Given the description of an element on the screen output the (x, y) to click on. 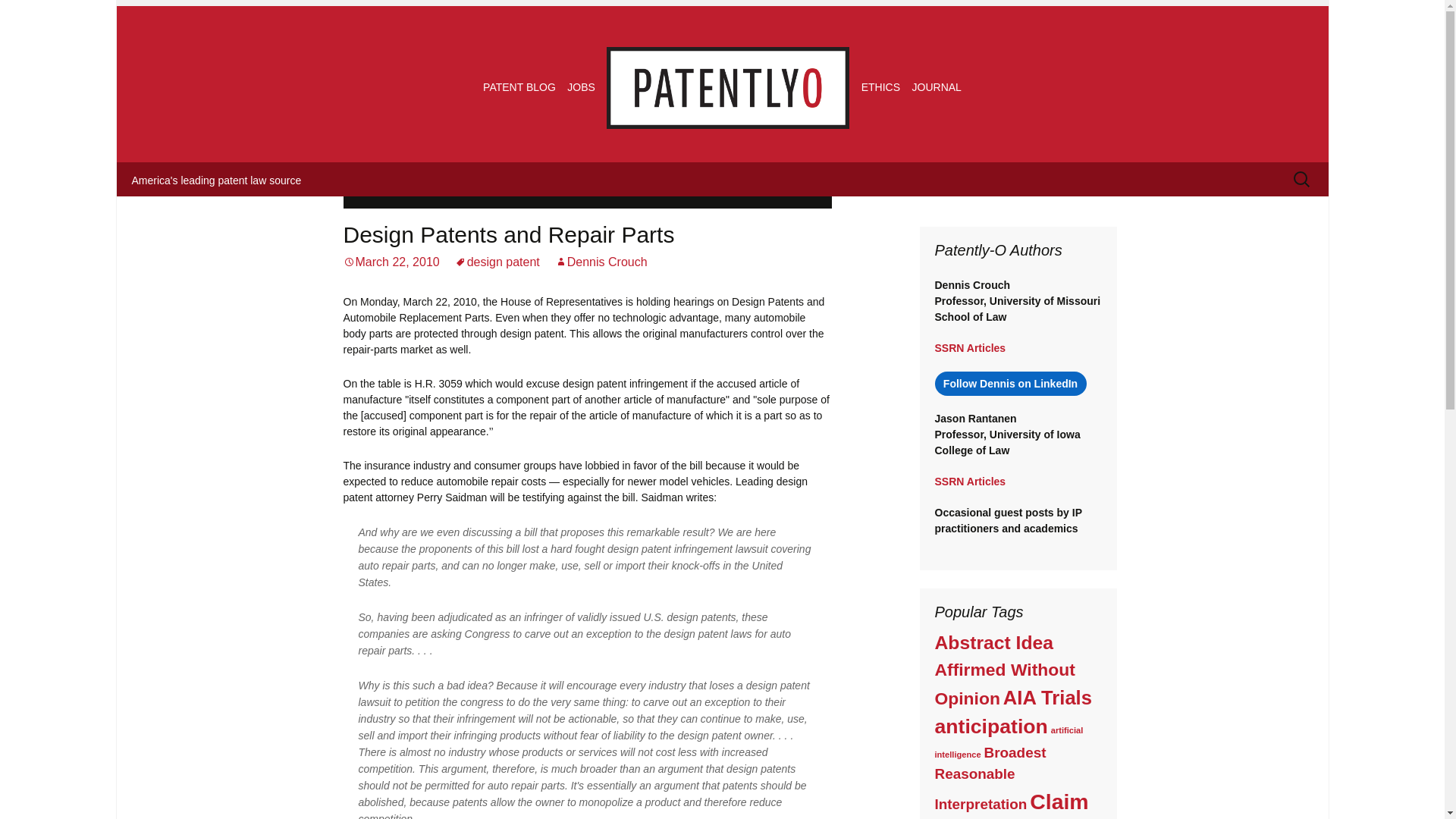
Patent law ethics by Hricik from Patently-O (880, 87)
View all posts by Dennis Crouch (600, 261)
March 22, 2010 (390, 261)
Patent law and IP law jobs from Patently-O (581, 87)
JOURNAL (936, 87)
JOBS (581, 87)
Patent Law Journal from Patently-O (936, 87)
design patent (497, 261)
ETHICS (880, 87)
PATENT BLOG (519, 87)
Dennis Crouch (600, 261)
Permalink to Design Patents and Repair Parts (390, 261)
Search (37, 15)
